Given the description of an element on the screen output the (x, y) to click on. 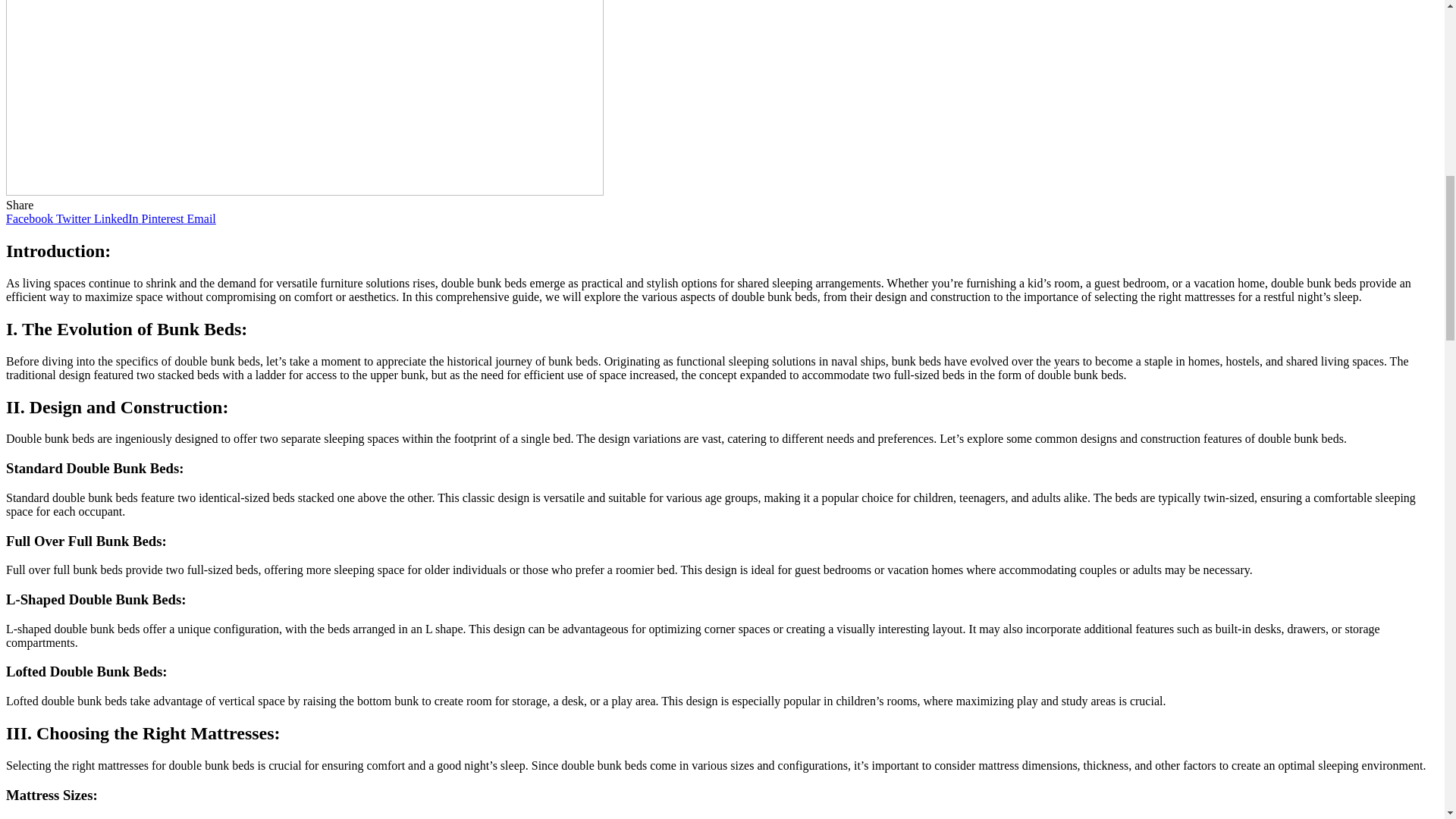
Twitter (75, 218)
Facebook (30, 218)
